Given the description of an element on the screen output the (x, y) to click on. 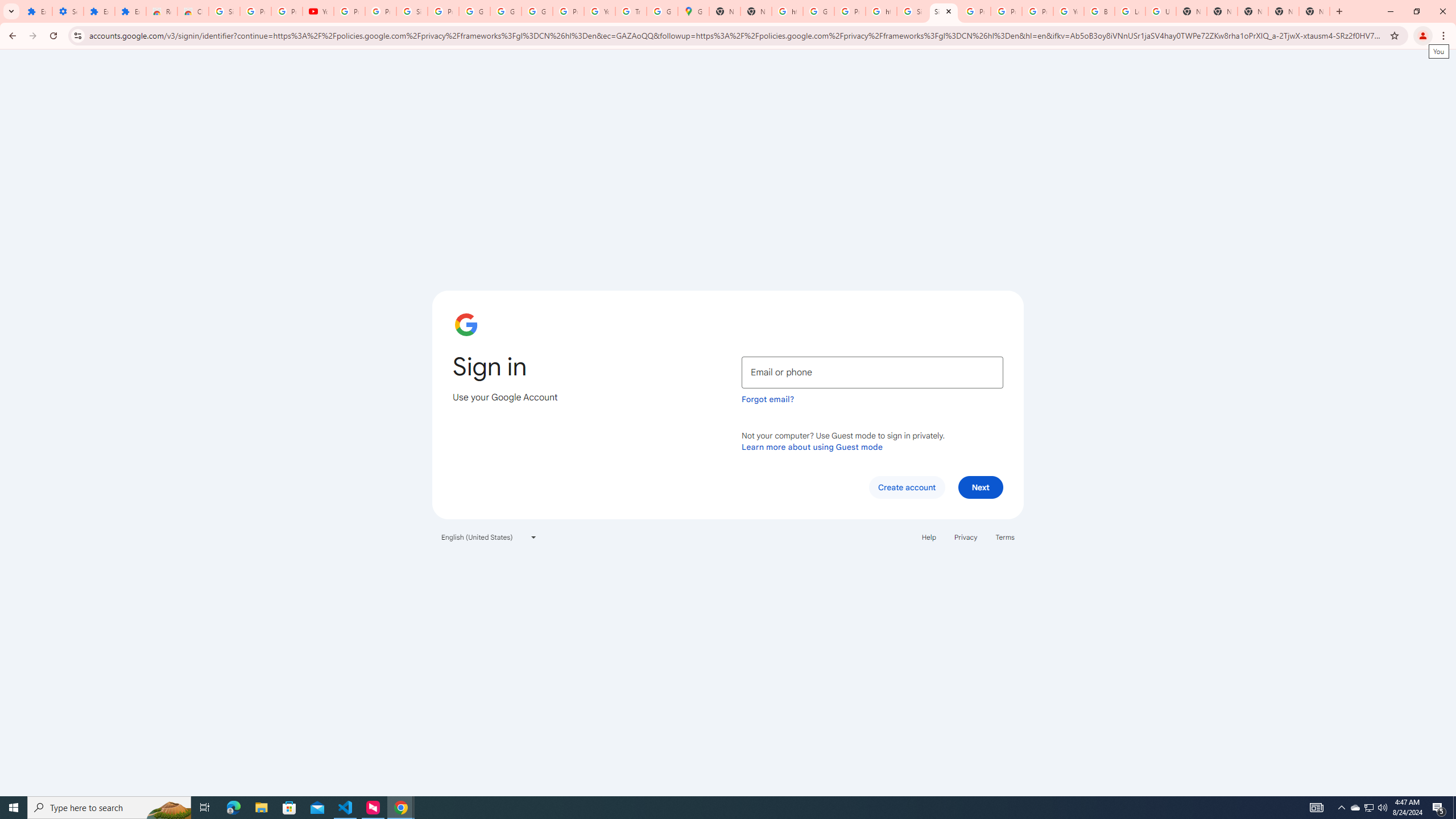
Sign in - Google Accounts (223, 11)
New Tab (1314, 11)
New Tab (1252, 11)
Privacy (965, 536)
Help (928, 536)
Privacy Help Center - Policies Help (1005, 11)
Google Maps (693, 11)
New Tab (1222, 11)
